Given the description of an element on the screen output the (x, y) to click on. 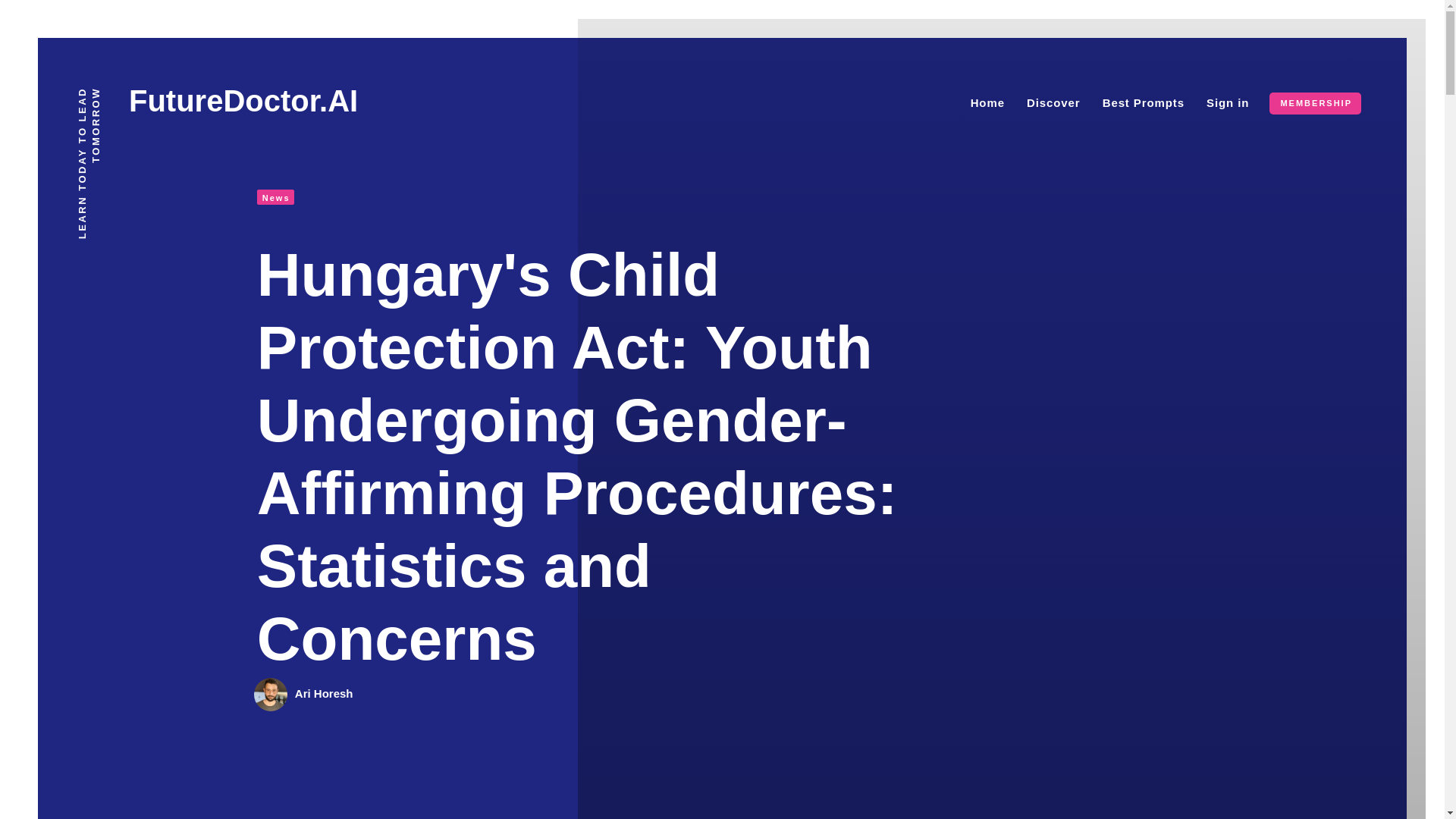
Sign in (1227, 101)
Home (987, 101)
MEMBERSHIP (1315, 103)
Ari Horesh (324, 693)
FutureDoctor.AI (243, 100)
Best Prompts (1143, 101)
Discover (1053, 101)
News (275, 197)
